Given the description of an element on the screen output the (x, y) to click on. 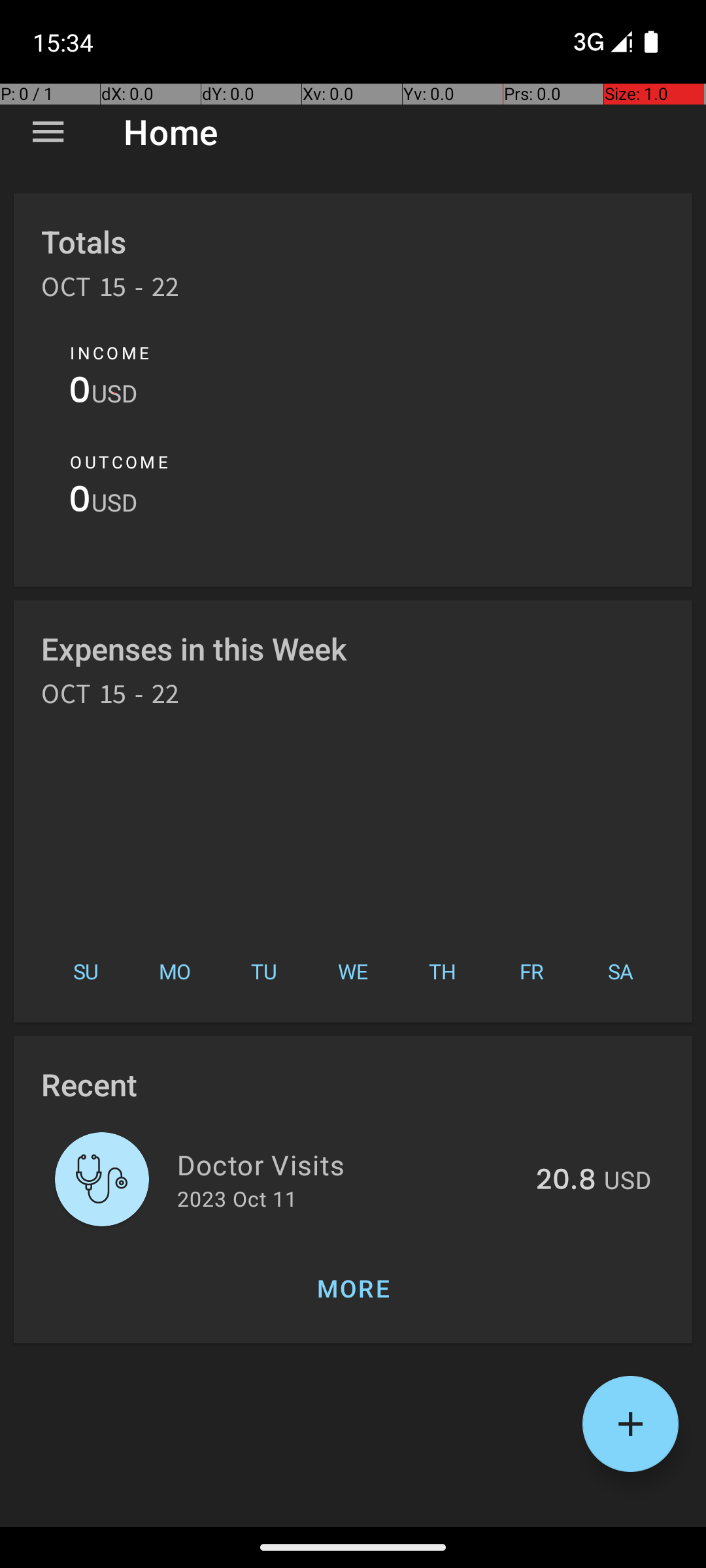
20.8 Element type: android.widget.TextView (565, 1180)
